Given the description of an element on the screen output the (x, y) to click on. 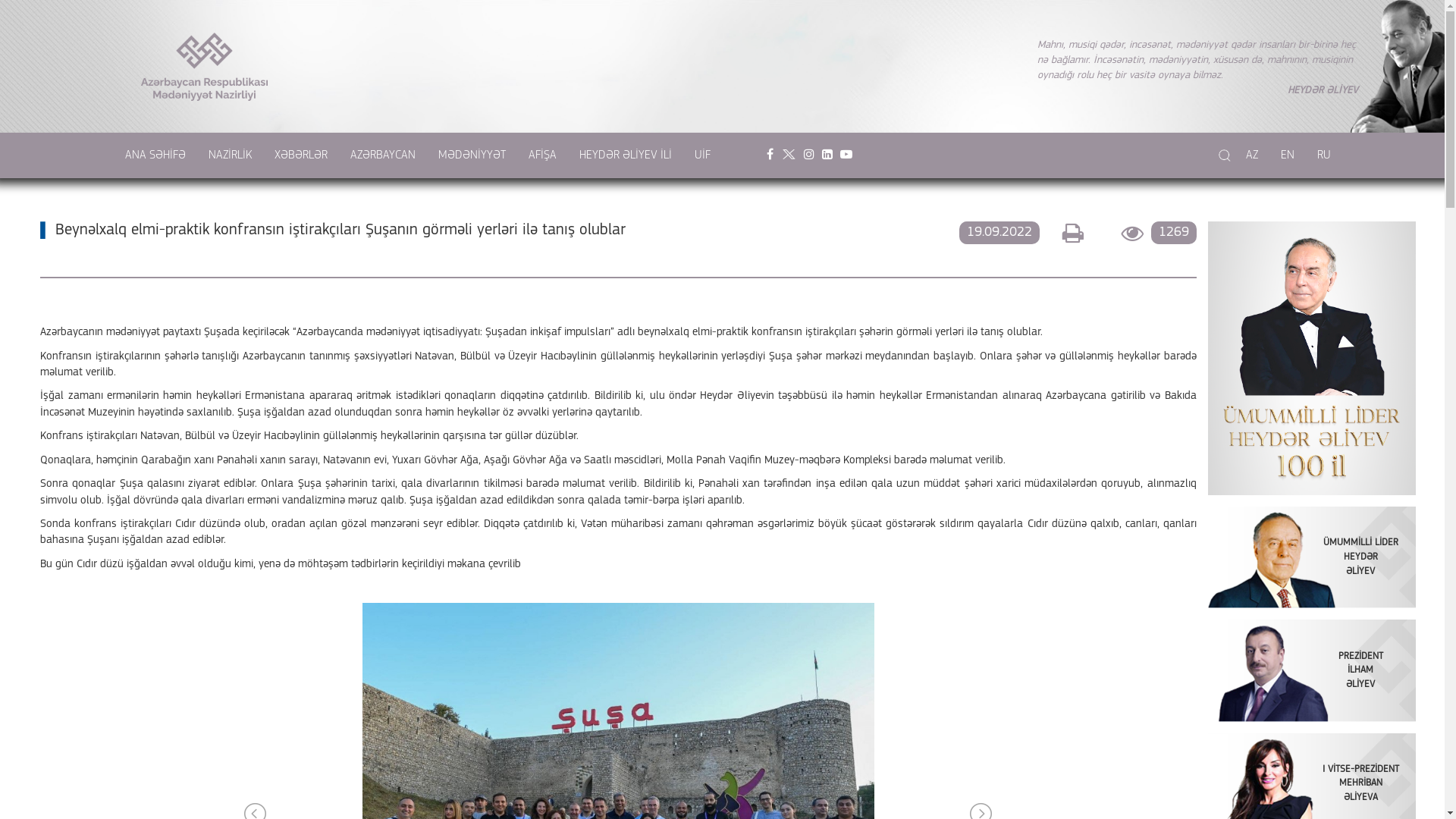
EN Element type: text (1287, 155)
RU Element type: text (1323, 155)
AZ Element type: text (1251, 155)
